Given the description of an element on the screen output the (x, y) to click on. 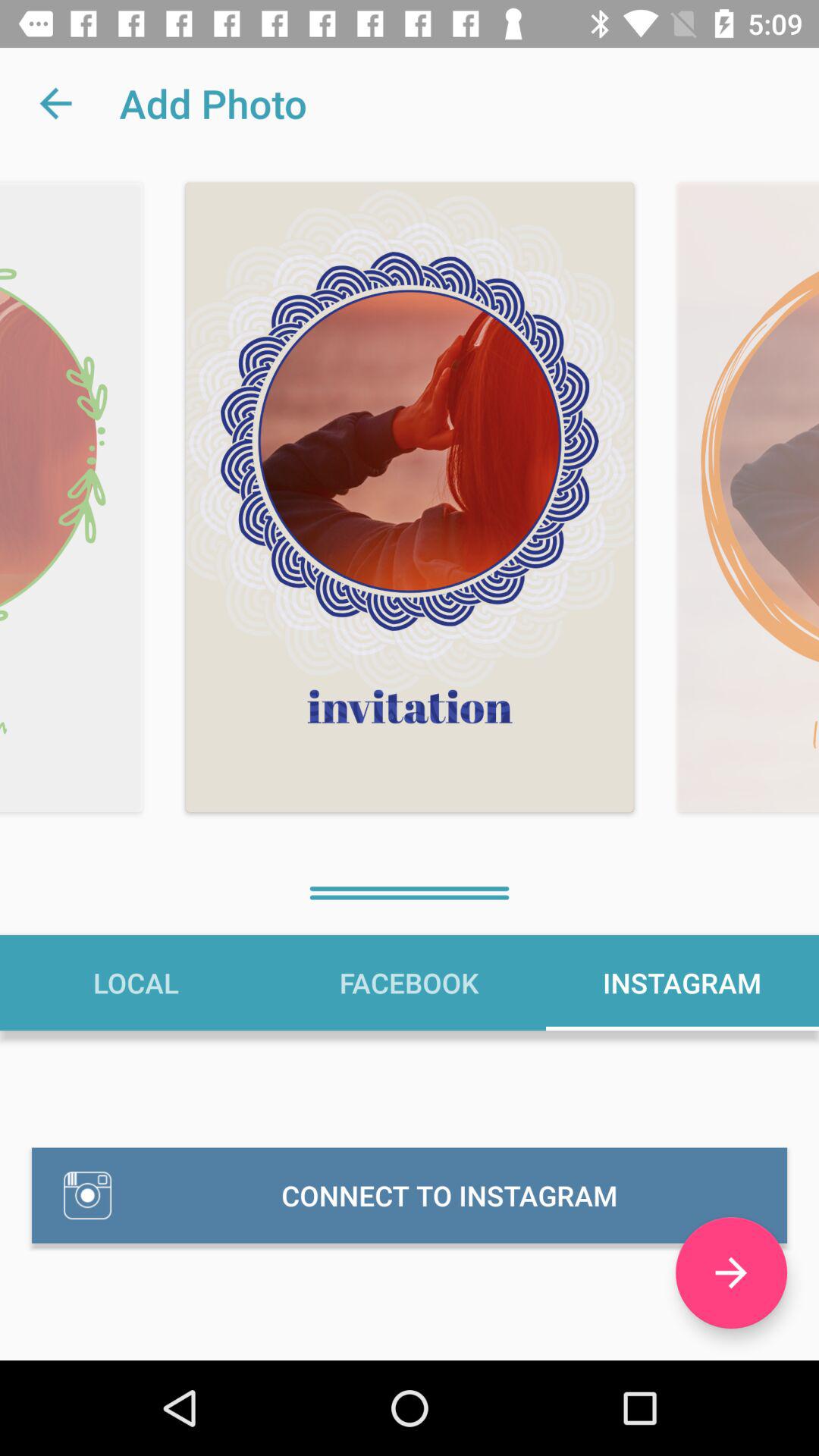
tap the icon to the left of add photo icon (55, 103)
